Given the description of an element on the screen output the (x, y) to click on. 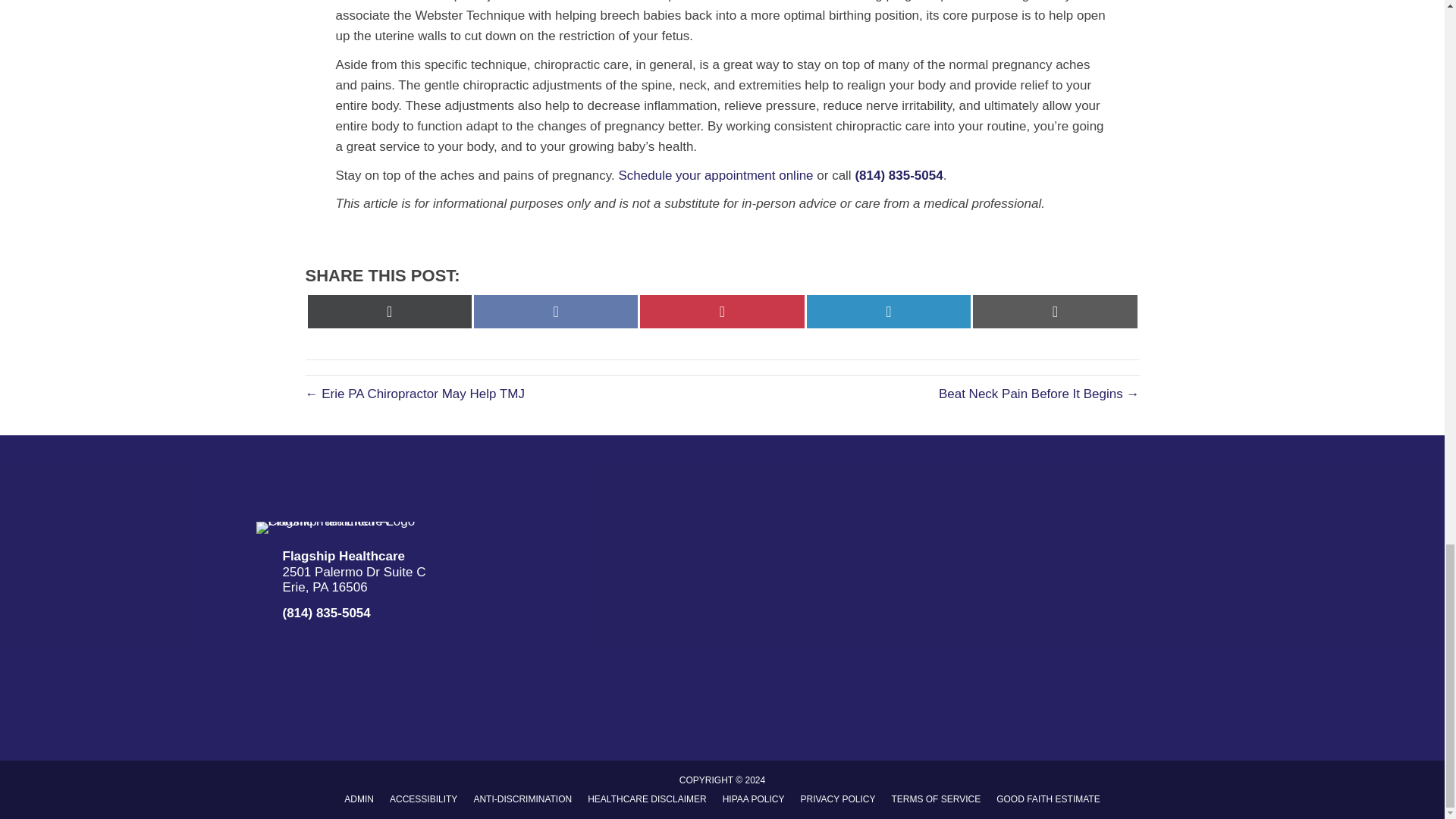
Share on Pinterest (721, 311)
Share on Email (1054, 311)
Chronic Pain Erie PA Flagship Healthcare Logo (337, 527)
Share on LinkedIn (888, 311)
Share on Facebook (555, 311)
Schedule your appointment online (715, 175)
